Given the description of an element on the screen output the (x, y) to click on. 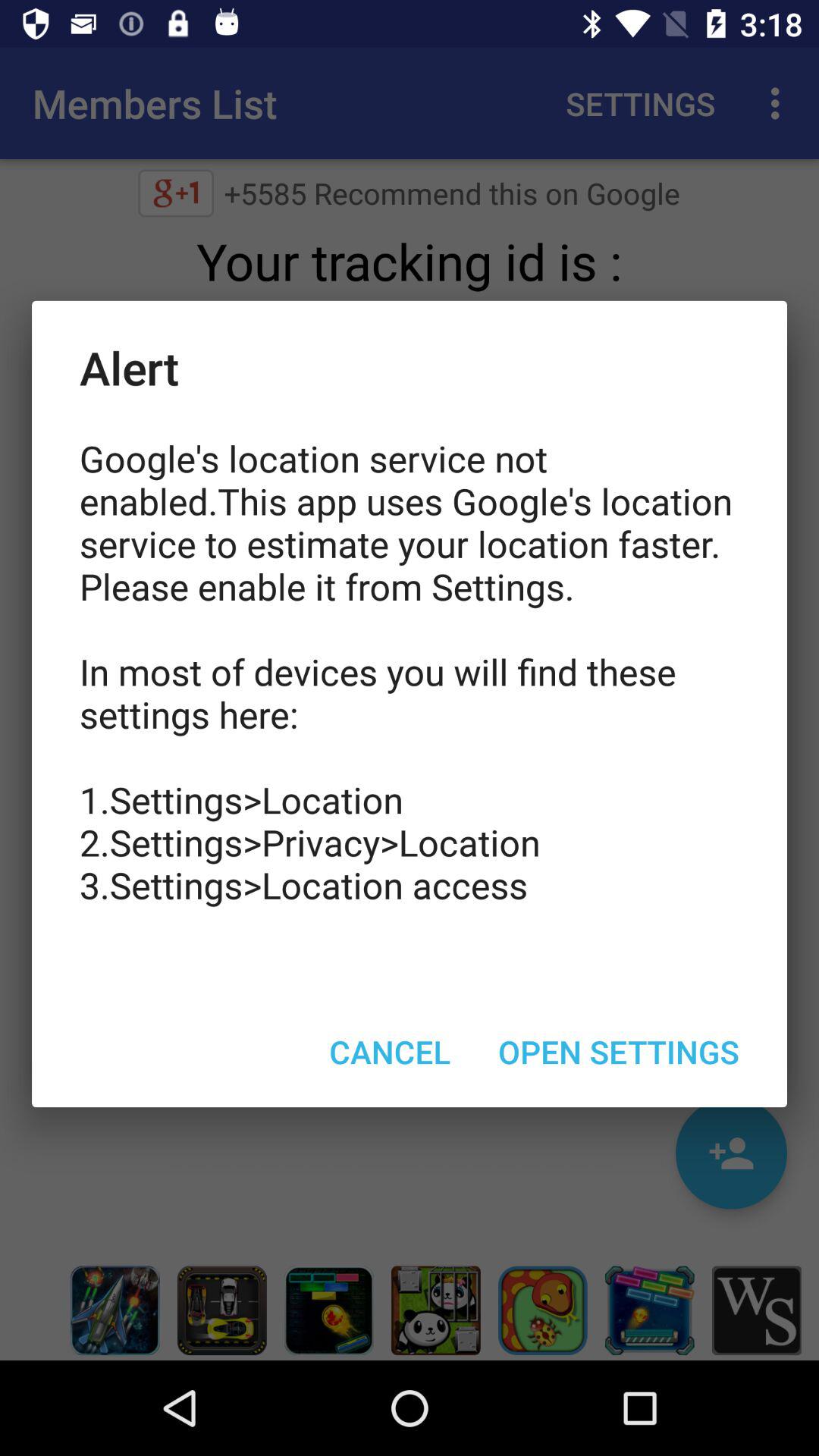
jump until the open settings icon (618, 1051)
